Given the description of an element on the screen output the (x, y) to click on. 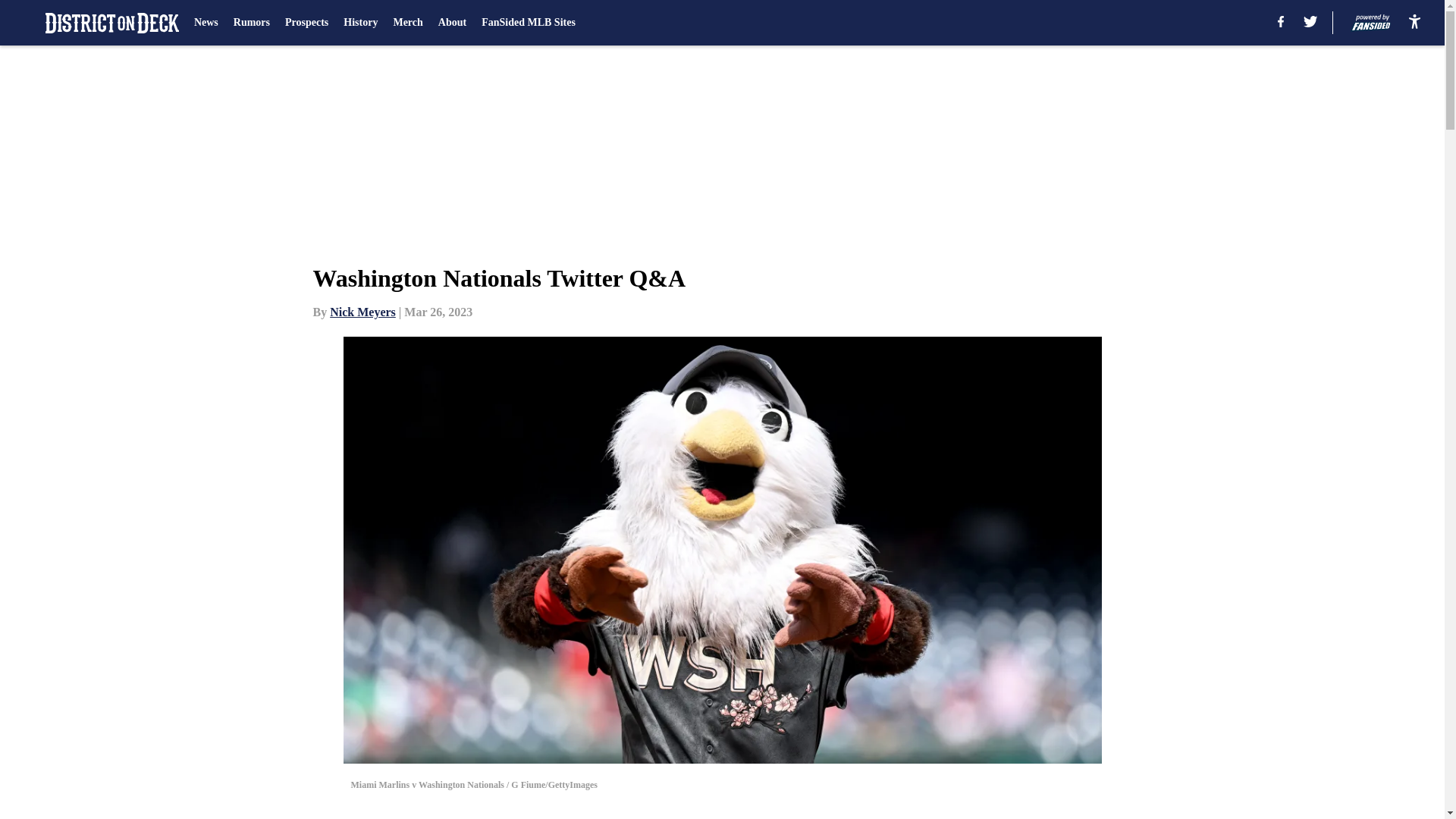
About (451, 22)
History (360, 22)
FanSided MLB Sites (528, 22)
Nick Meyers (363, 311)
News (205, 22)
Merch (407, 22)
Prospects (307, 22)
Rumors (250, 22)
